Given the description of an element on the screen output the (x, y) to click on. 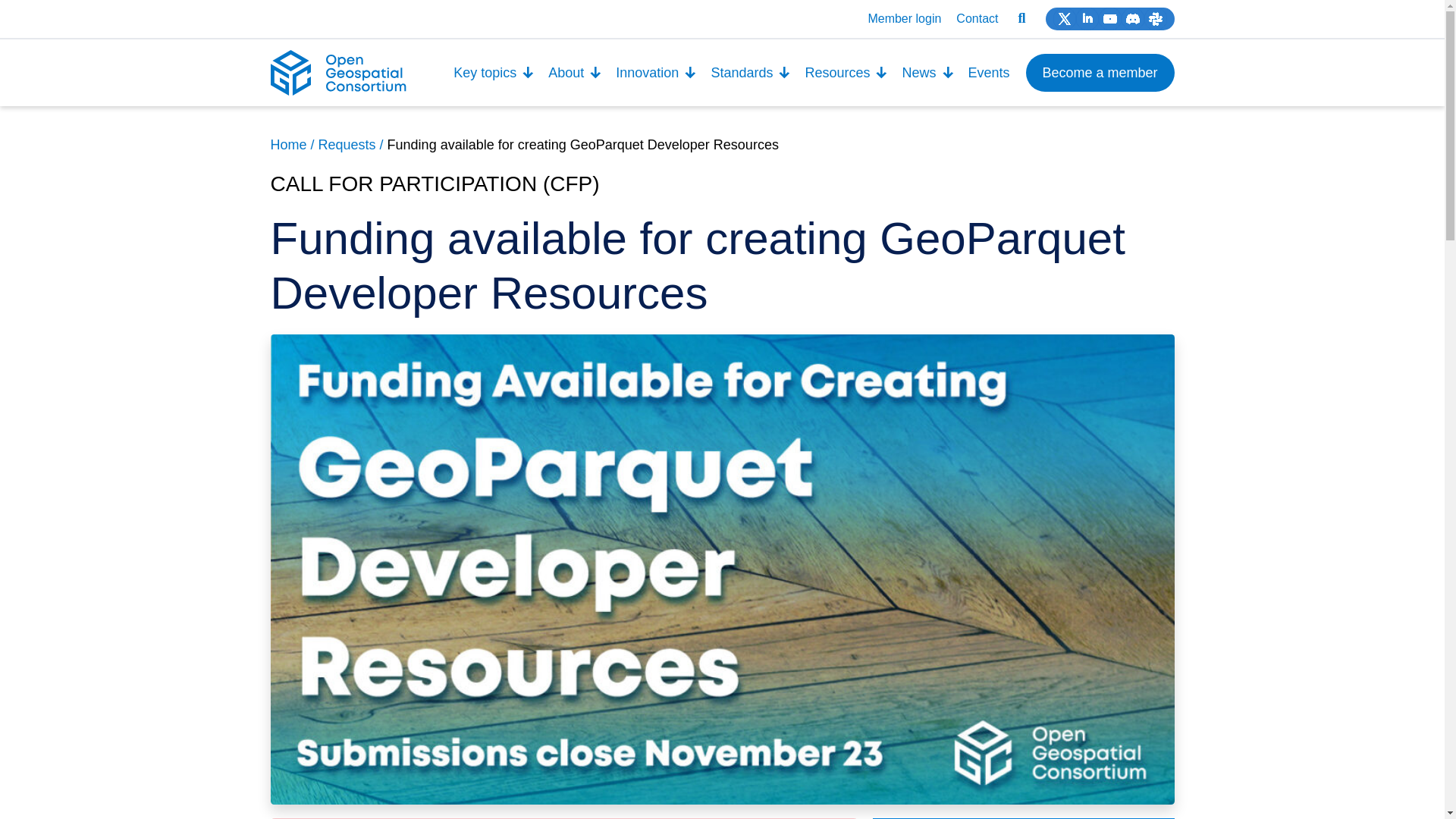
Standards (750, 72)
Key topics (493, 72)
Contact (977, 18)
Innovation (655, 72)
About (574, 72)
Member login (904, 18)
